Given the description of an element on the screen output the (x, y) to click on. 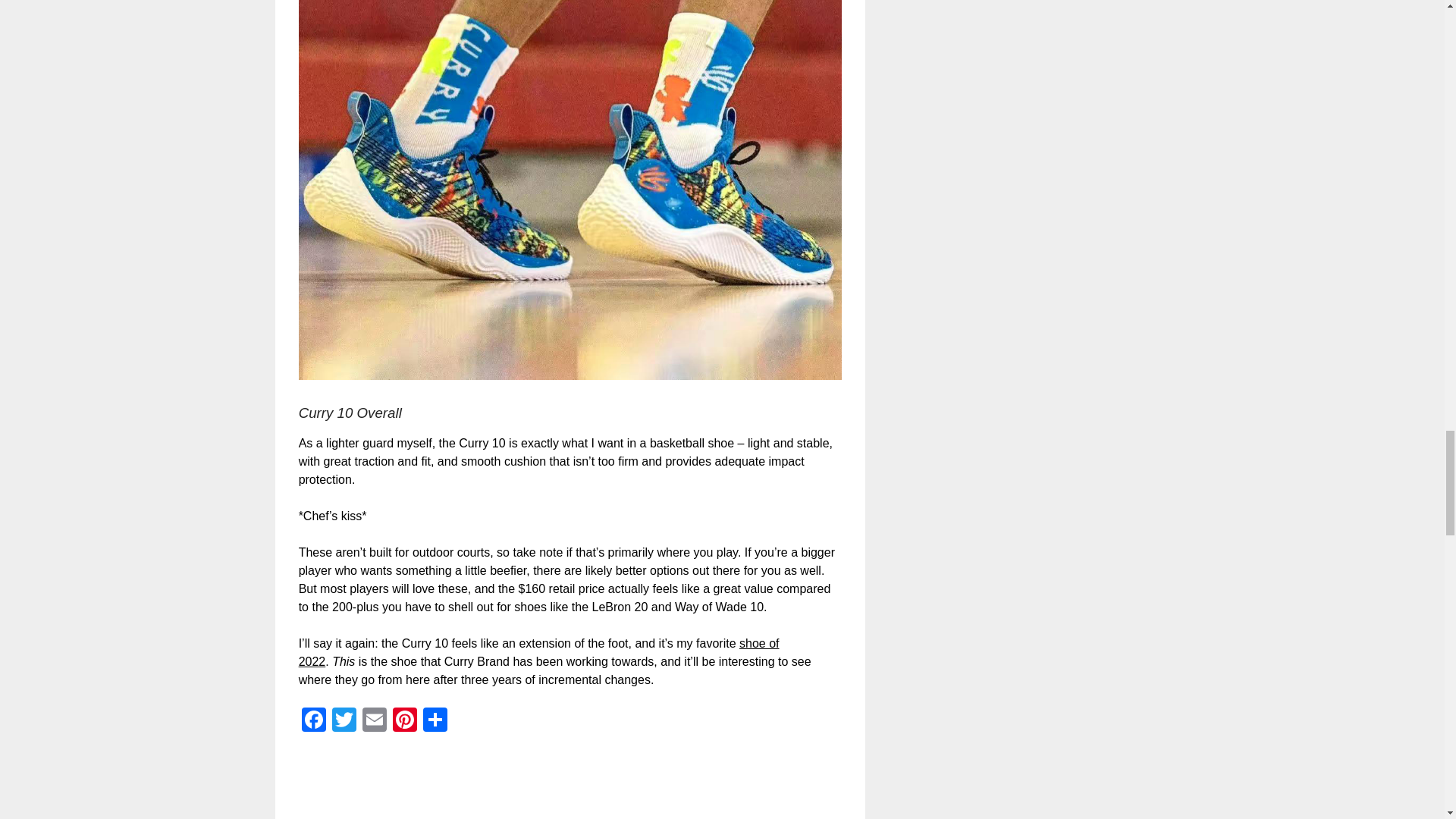
Facebook (313, 721)
Pinterest (405, 721)
Email (374, 721)
Twitter (344, 721)
Email (374, 721)
shoe of 2022 (538, 652)
Facebook (313, 721)
Pinterest (405, 721)
Twitter (344, 721)
